Given the description of an element on the screen output the (x, y) to click on. 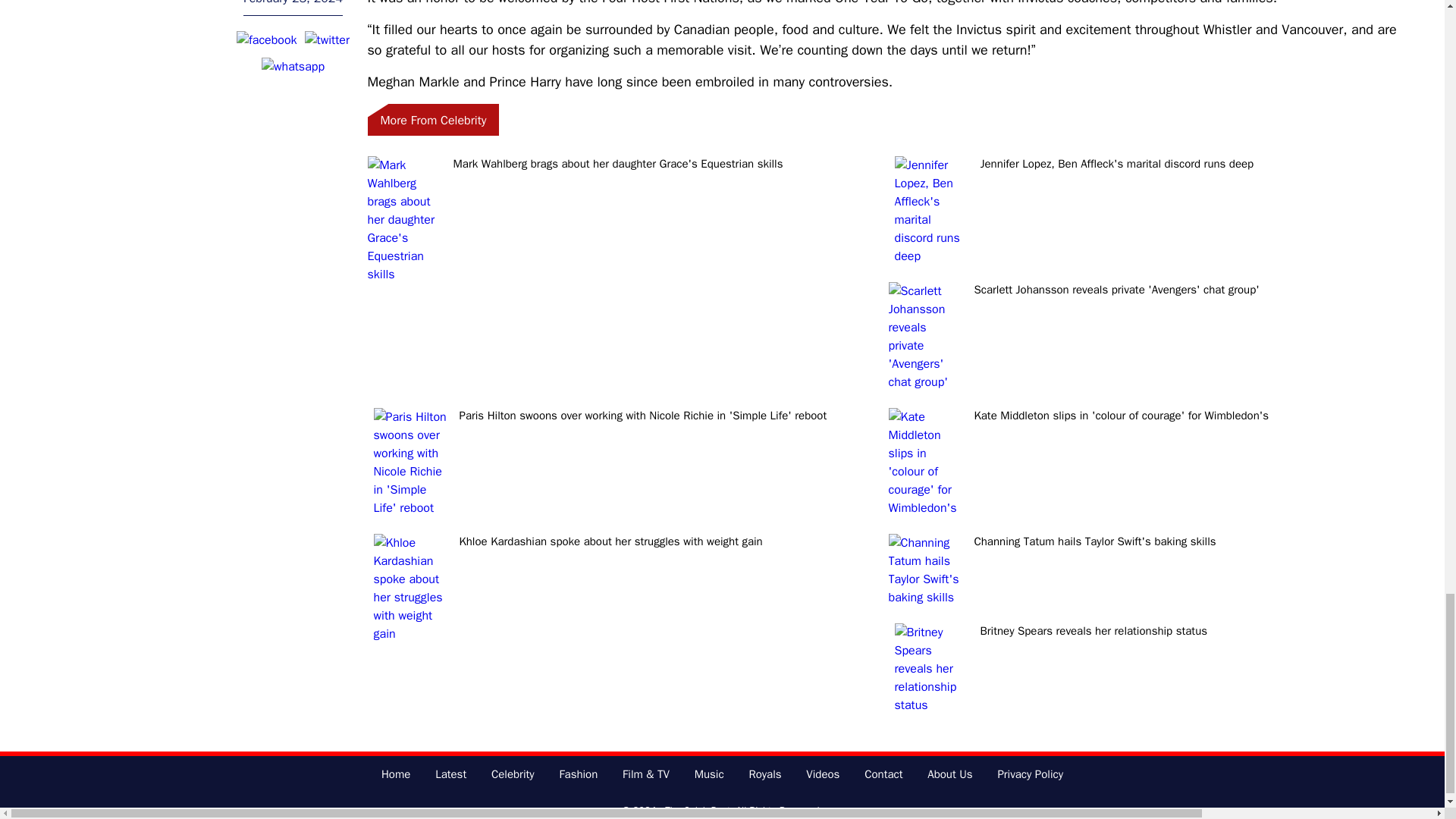
More From Celebrity (432, 119)
